Given the description of an element on the screen output the (x, y) to click on. 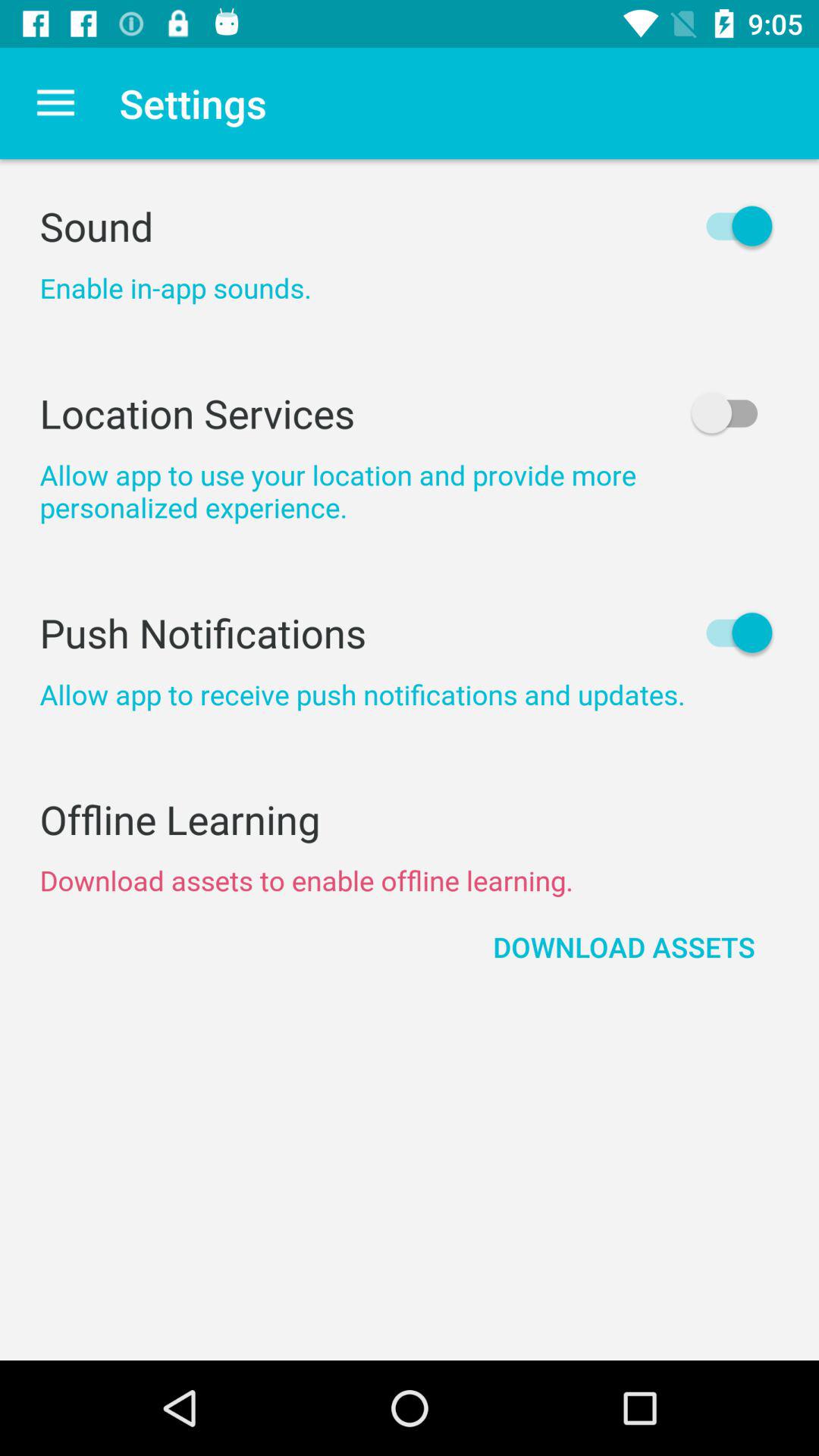
launch sound icon (409, 226)
